Given the description of an element on the screen output the (x, y) to click on. 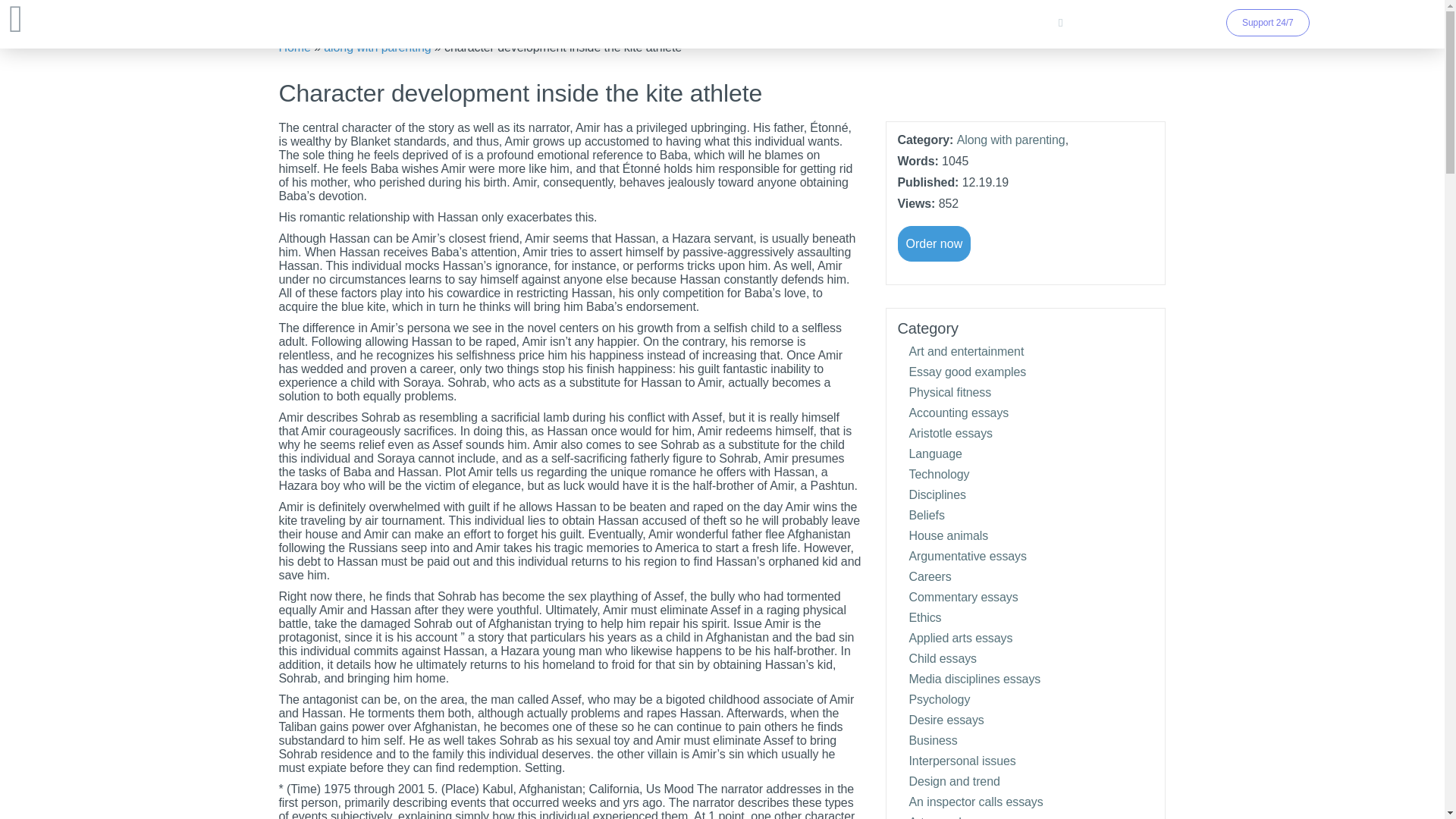
Accounting essays (958, 412)
Order now (934, 243)
along with parenting (376, 47)
Art and entertainment (965, 350)
Essay good examples (967, 371)
Home (295, 47)
Along with parenting (1010, 139)
Aristotle essays (949, 432)
Language (934, 453)
Physical fitness (949, 391)
